Given the description of an element on the screen output the (x, y) to click on. 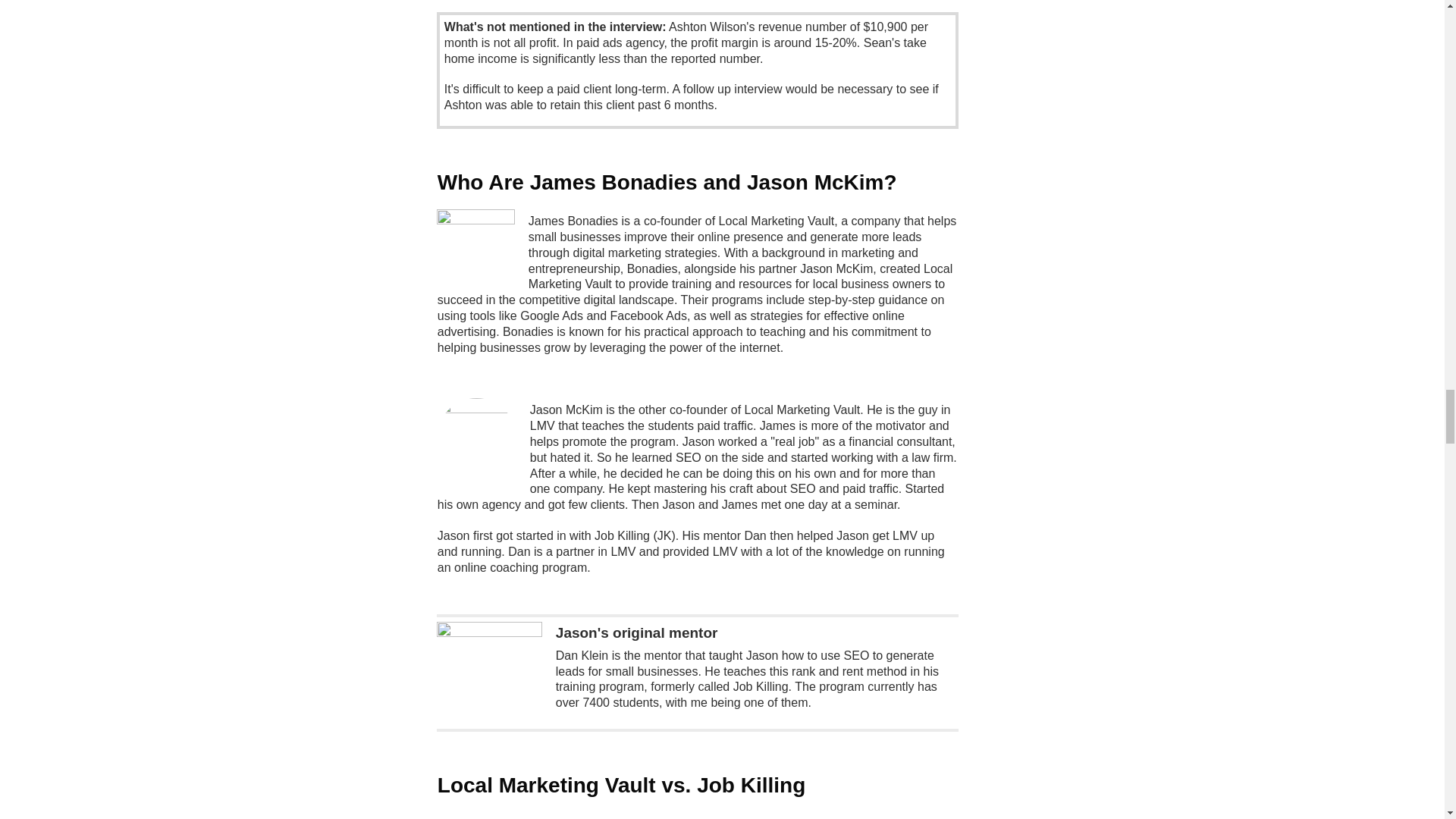
james-bonadies-cropped (475, 248)
dan-k-james-cropped (488, 674)
jason (476, 437)
